Given the description of an element on the screen output the (x, y) to click on. 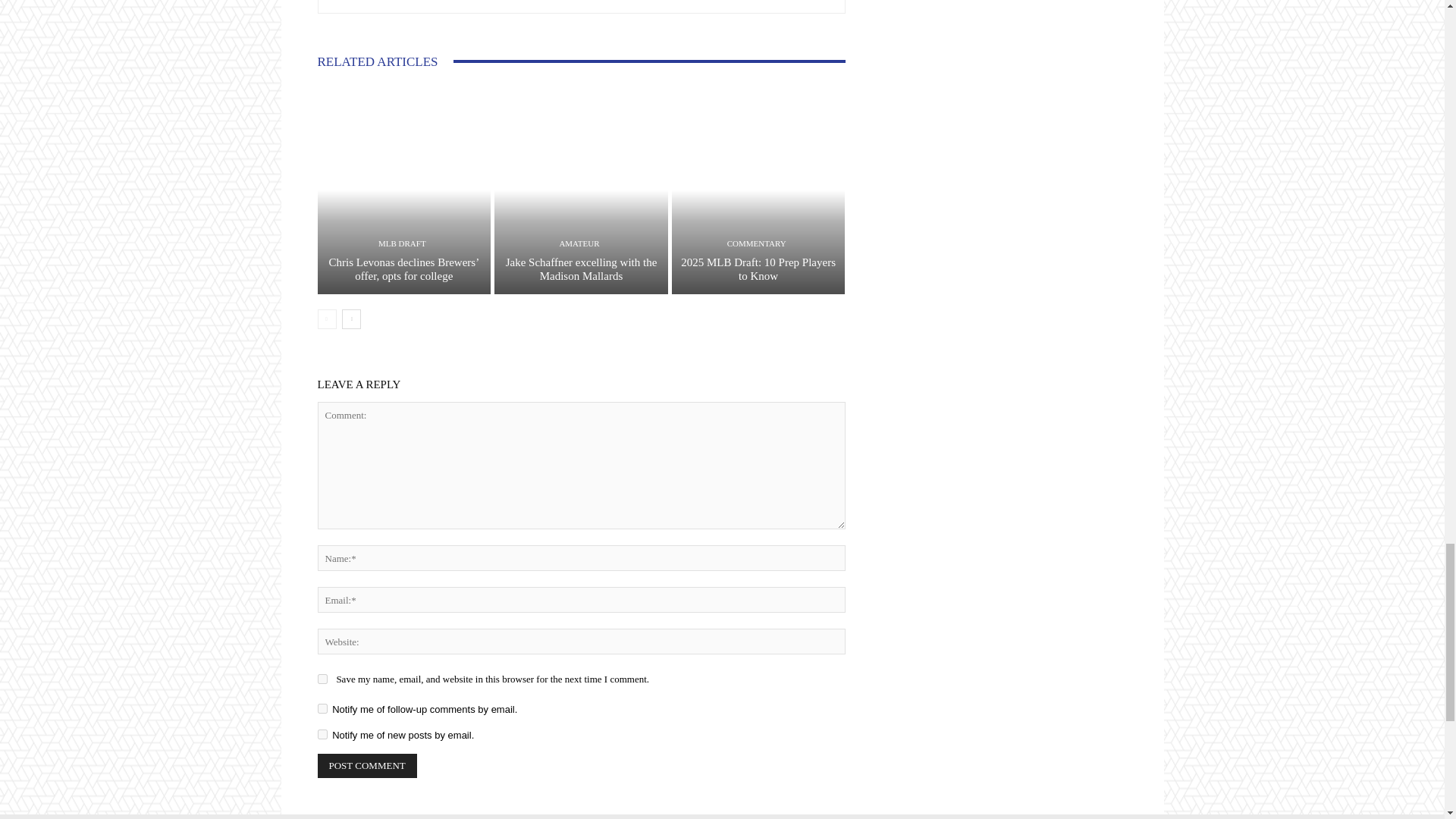
yes (321, 678)
subscribe (321, 734)
Post Comment (366, 765)
subscribe (321, 708)
